Given the description of an element on the screen output the (x, y) to click on. 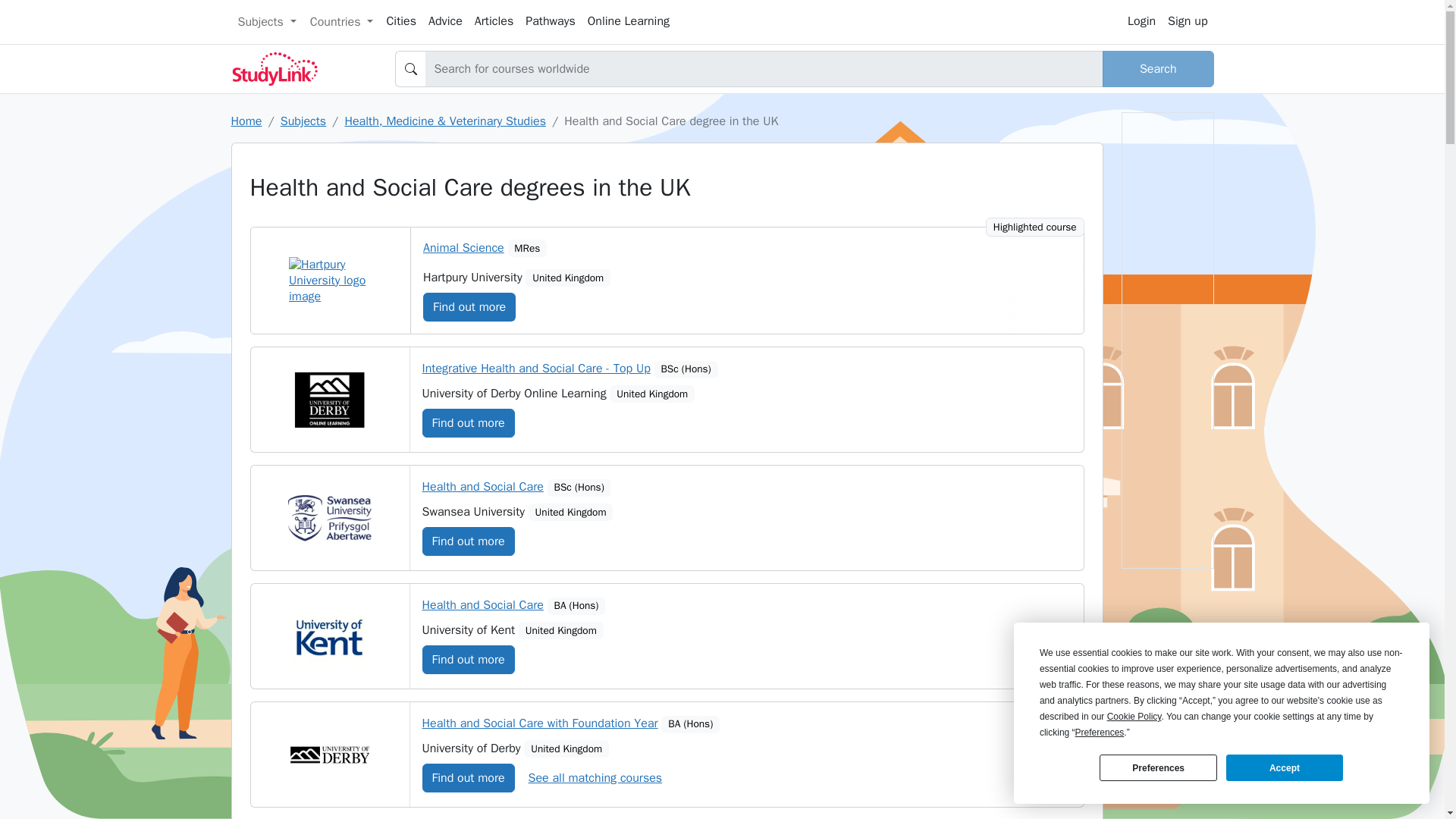
University of Derby (329, 754)
3rd party ad content (667, 283)
Swansea University (329, 518)
Preferences (1157, 767)
University of Derby Online Learning (329, 399)
Accept (1283, 767)
Countries (341, 21)
Subjects (266, 21)
University of Kent (329, 636)
